Given the description of an element on the screen output the (x, y) to click on. 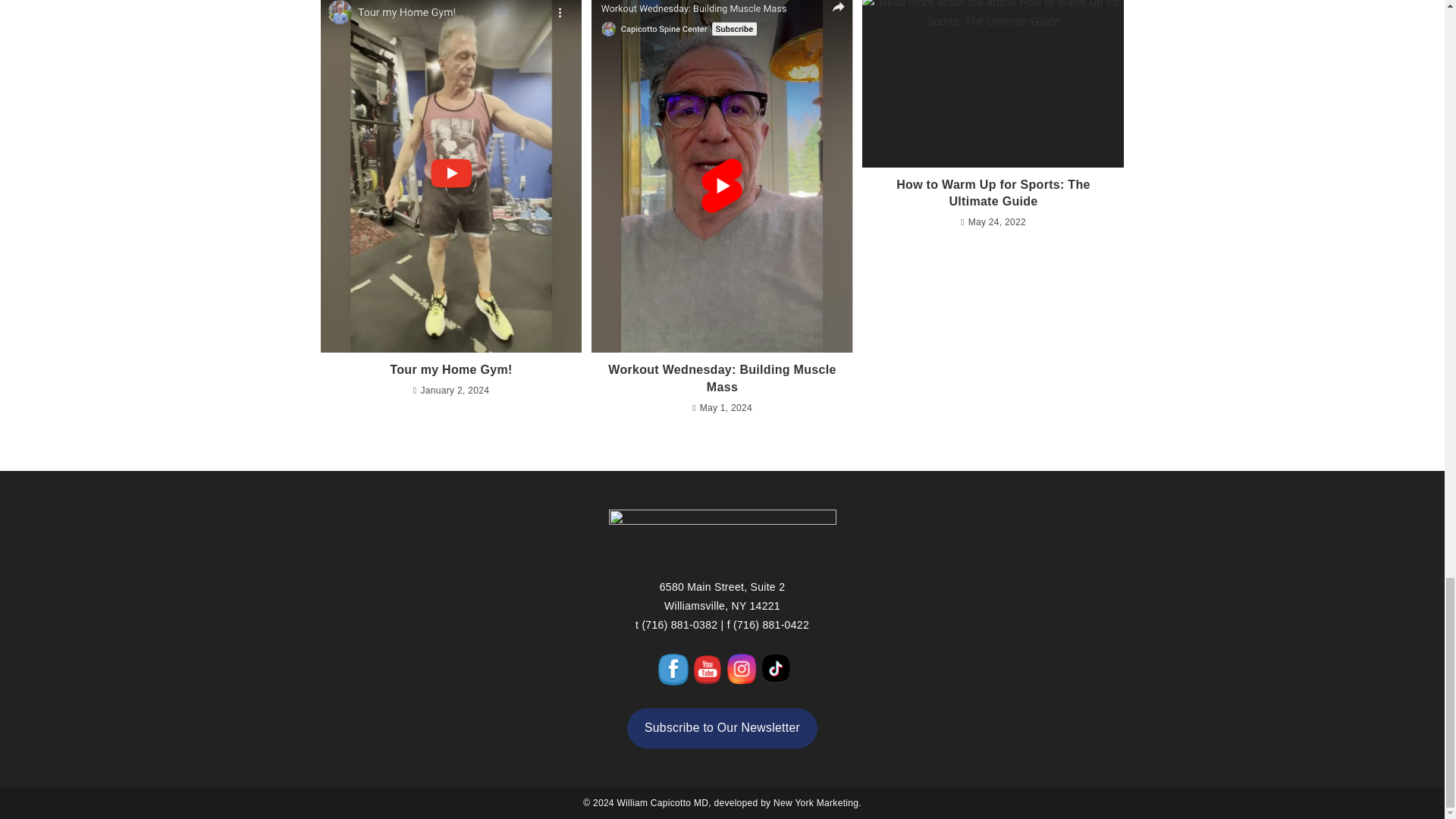
Workout Wednesday: Building Muscle Mass (721, 378)
Tour my Home Gym! (450, 369)
Facebook (673, 669)
Instagram (741, 668)
Tiktok (775, 668)
